Given the description of an element on the screen output the (x, y) to click on. 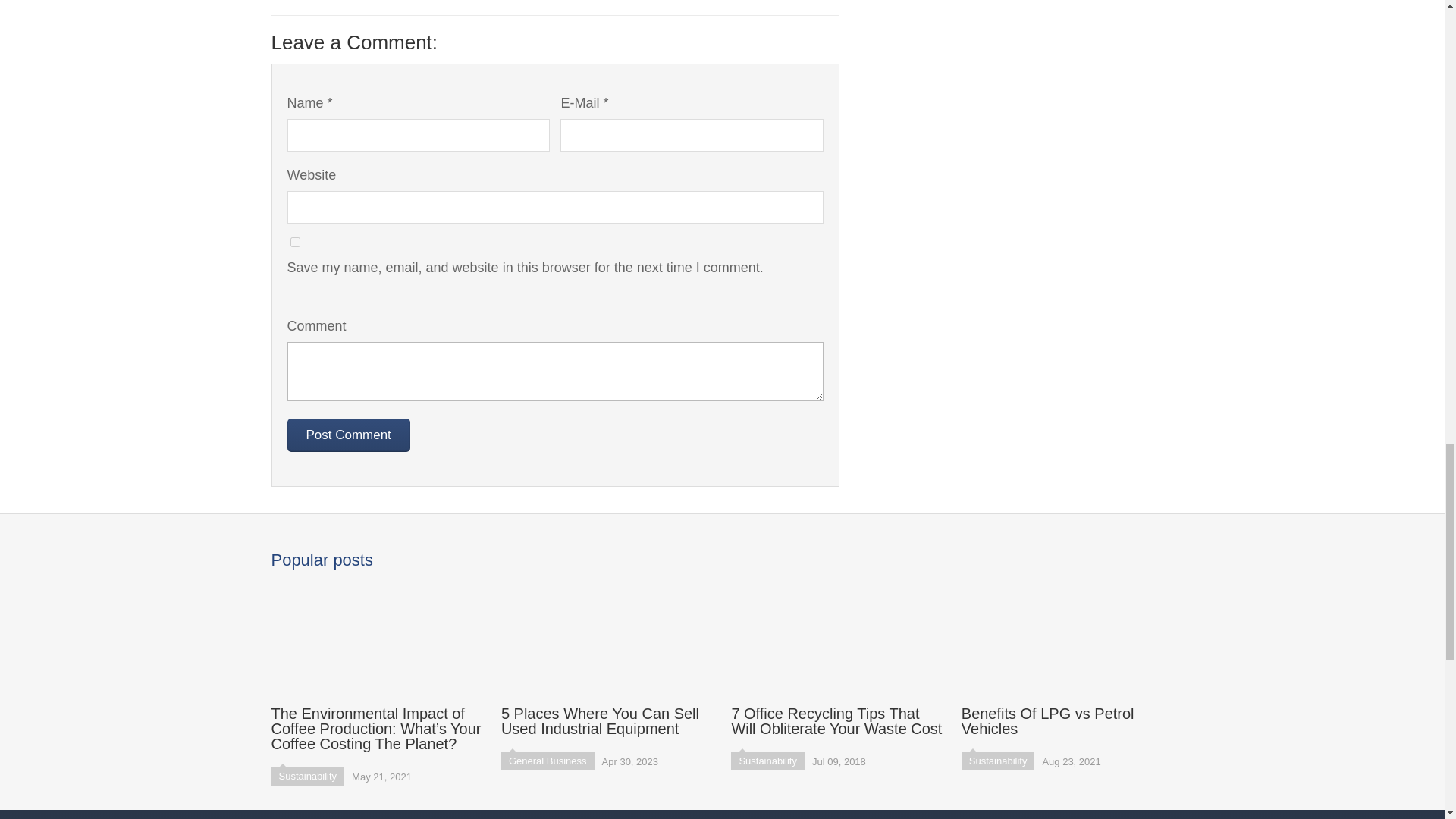
Sustainability (767, 760)
5 Places Where You Can Sell Used Industrial Equipment (606, 657)
yes (294, 242)
Sustainability (307, 775)
Benefits Of LPG vs Petrol Vehicles (1066, 657)
Post Comment (347, 435)
General Business (547, 760)
7 Office Recycling Tips That Will Obliterate Your Waste Cost (836, 657)
Post Comment (347, 435)
